Given the description of an element on the screen output the (x, y) to click on. 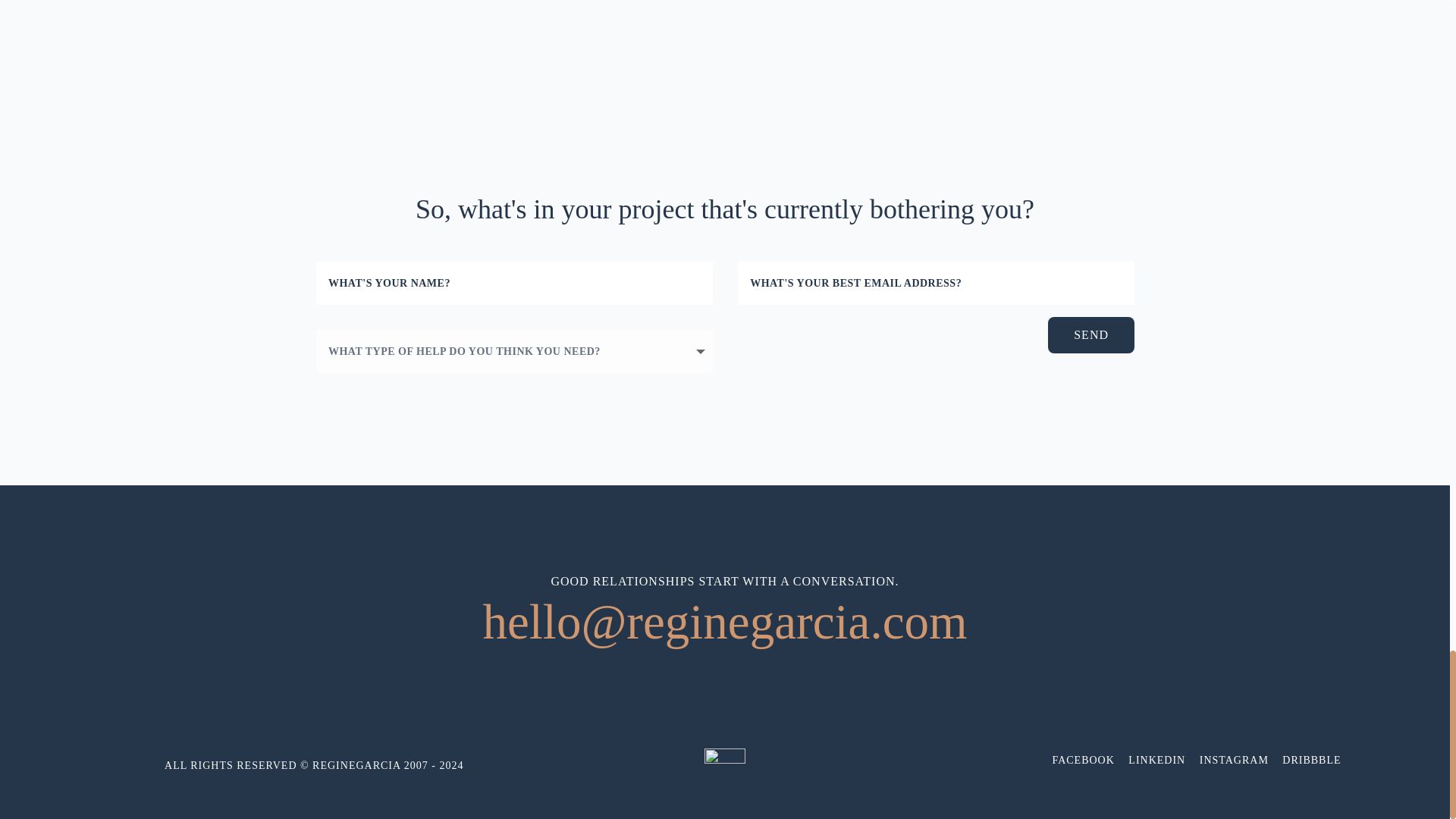
FACEBOOK (1082, 759)
INSTAGRAM (1233, 759)
LINKEDIN (1156, 759)
SEND (1091, 334)
regine-garcia-logo-white (724, 768)
DRIBBBLE (1311, 759)
